Given the description of an element on the screen output the (x, y) to click on. 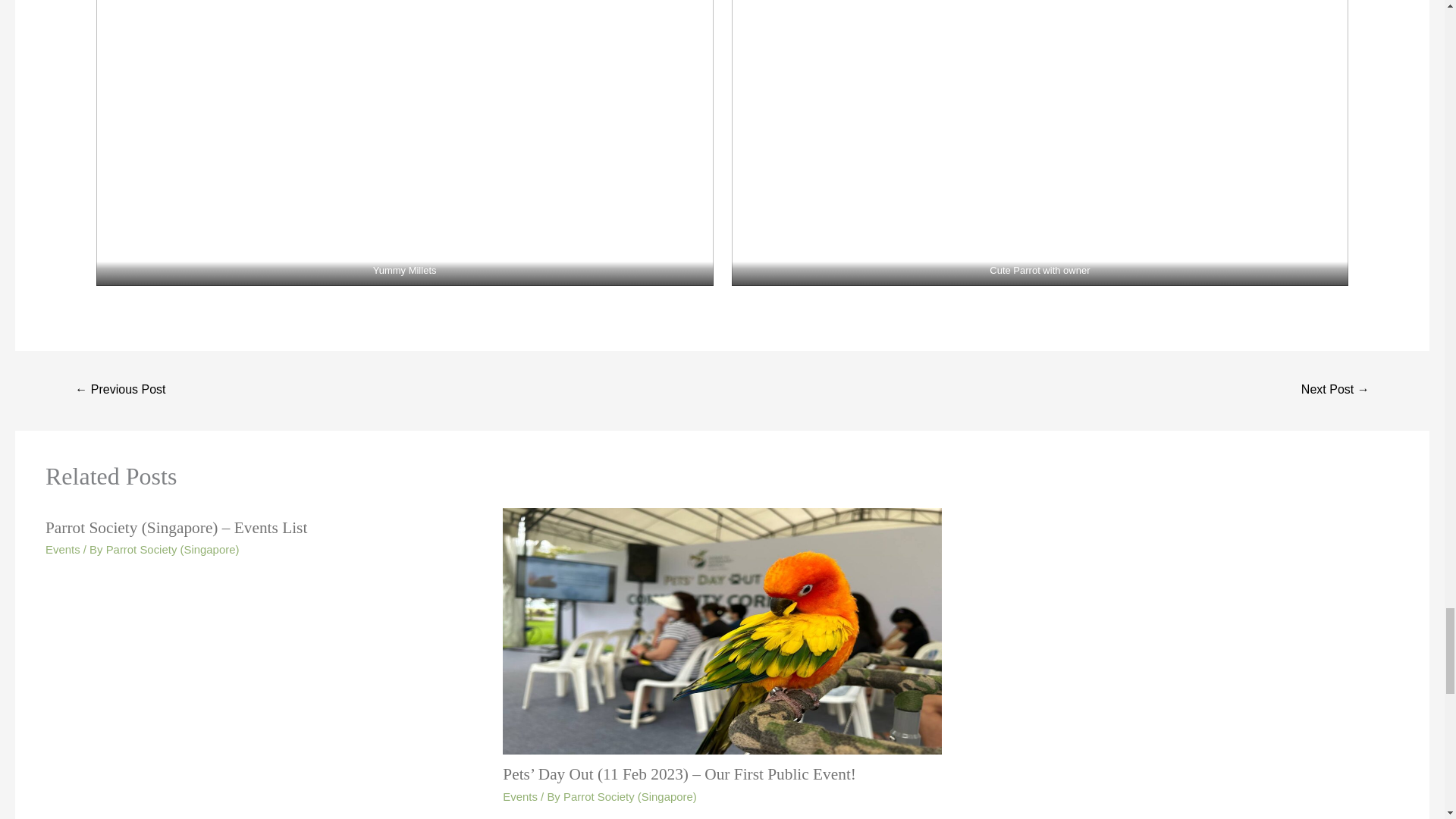
Events (62, 549)
Events (519, 796)
